Given the description of an element on the screen output the (x, y) to click on. 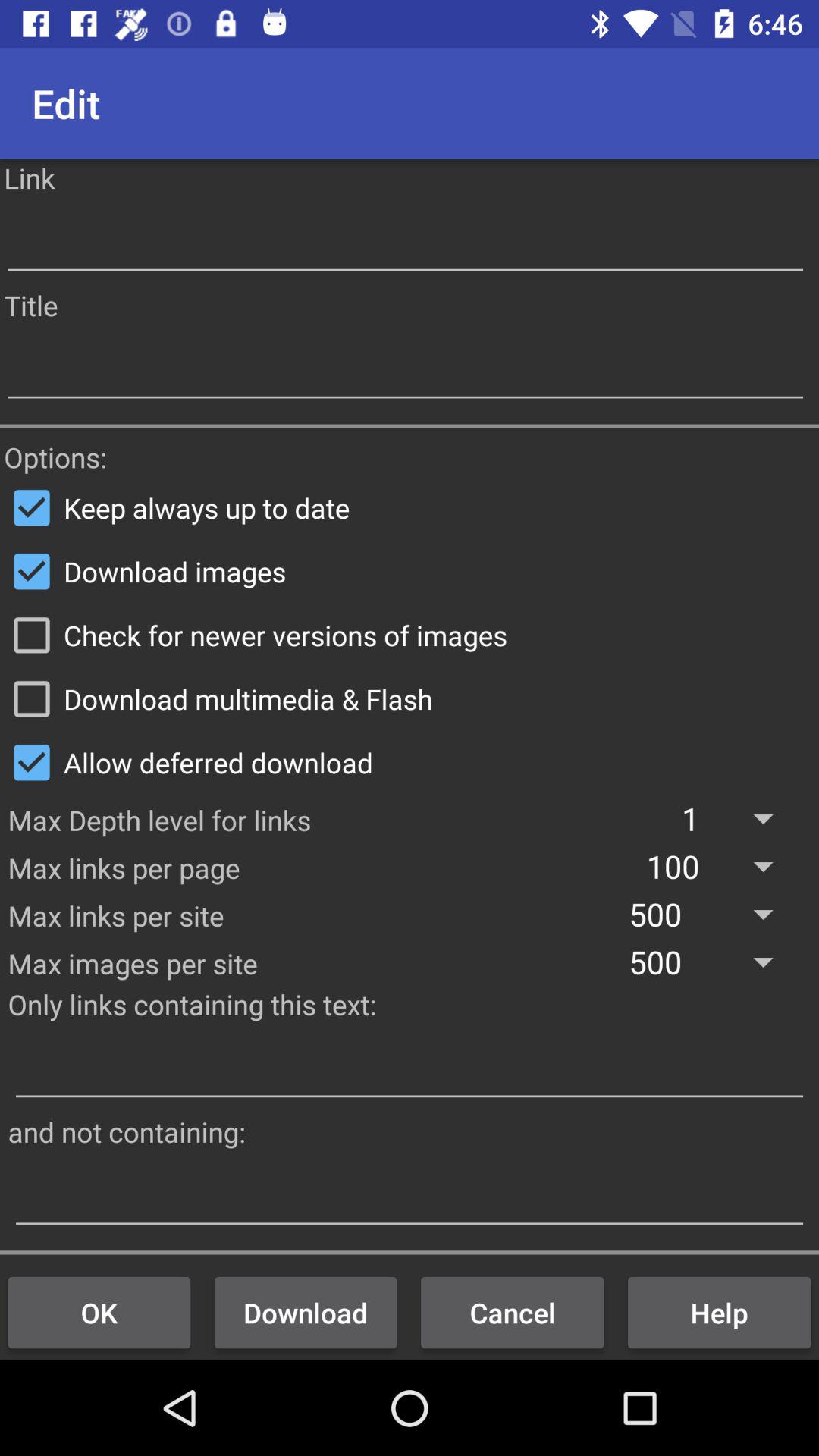
scroll to the keep always up icon (409, 507)
